Given the description of an element on the screen output the (x, y) to click on. 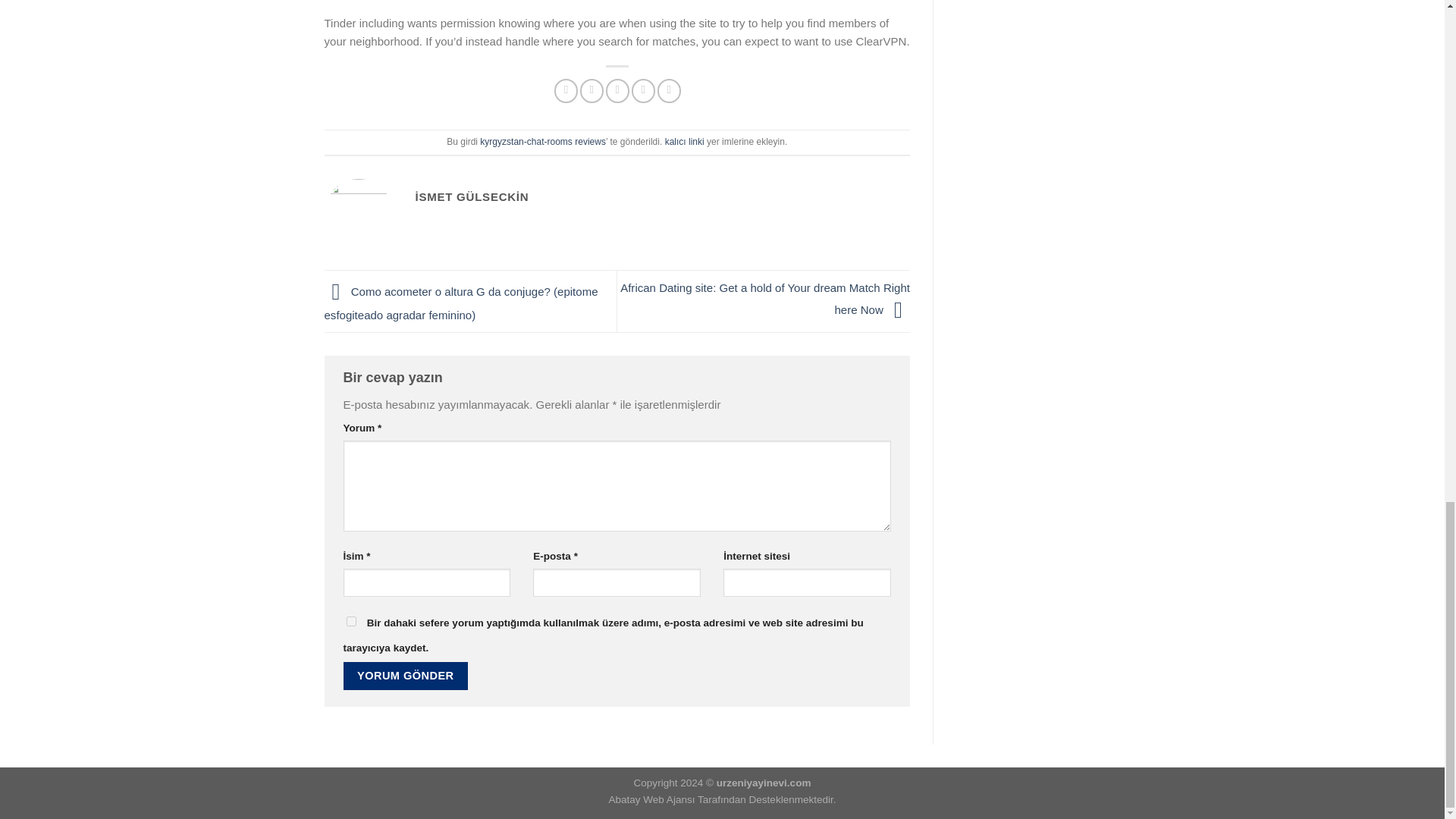
yes (350, 621)
kyrgyzstan-chat-rooms reviews (542, 141)
